Given the description of an element on the screen output the (x, y) to click on. 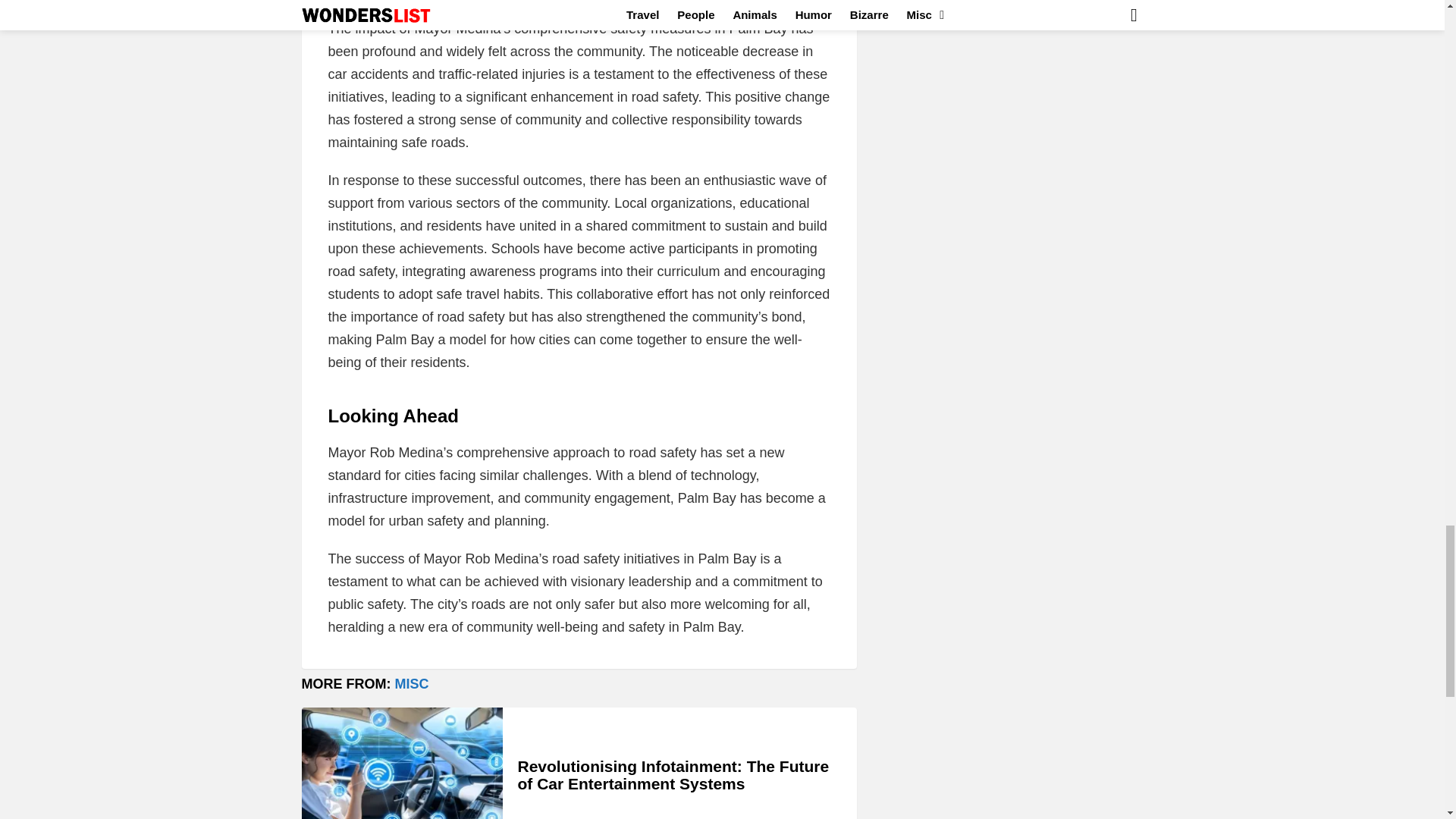
MISC (411, 683)
